Given the description of an element on the screen output the (x, y) to click on. 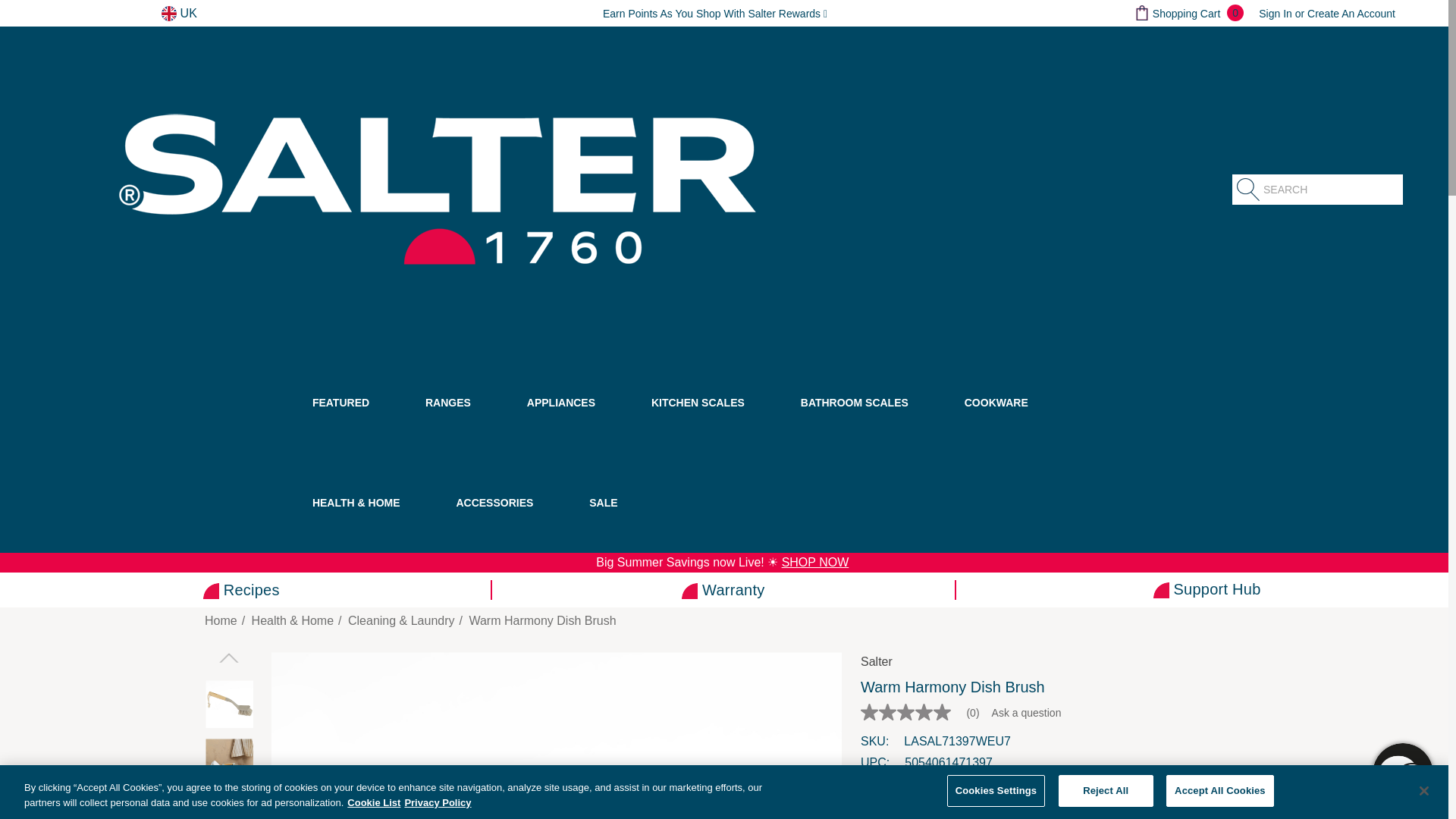
RANGES (433, 421)
Sign In (1275, 12)
FEATURED (325, 421)
UK (179, 13)
Create An Account (1350, 12)
Review Your Cart Review Your Cart (1142, 12)
Review Your Cart Review Your Cart Shopping Cart 0 (1187, 13)
